Given the description of an element on the screen output the (x, y) to click on. 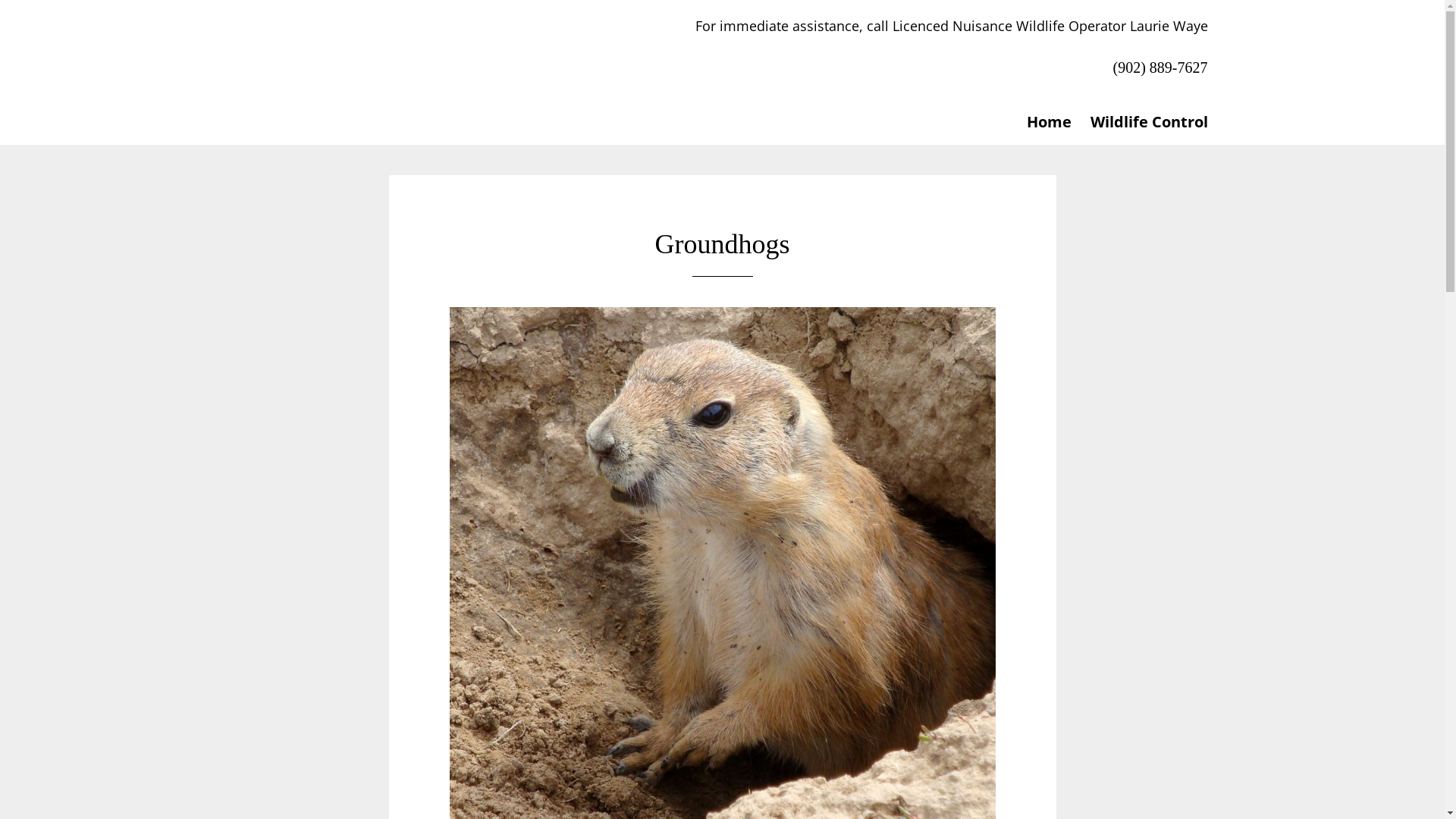
Wildlife Control Element type: text (1141, 121)
Skip to main content Element type: text (0, 0)
A1 Wildlife Solutions Element type: text (350, 62)
Home Element type: text (1041, 121)
